Given the description of an element on the screen output the (x, y) to click on. 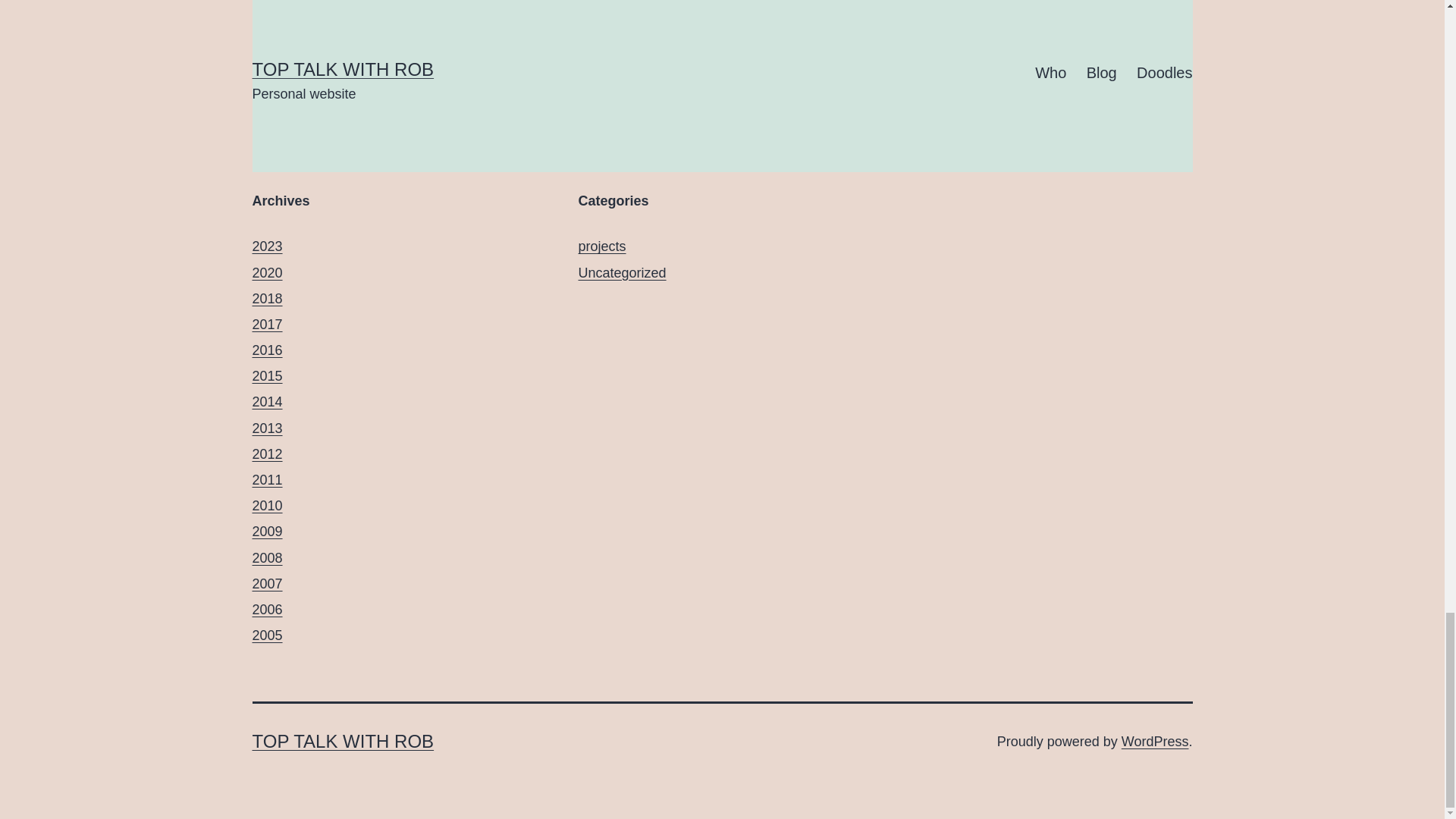
2009 (266, 531)
2006 (266, 609)
2016 (266, 350)
2011 (266, 479)
2008 (266, 557)
2005 (266, 635)
2017 (266, 324)
2015 (266, 376)
2020 (266, 272)
2014 (266, 401)
2018 (266, 298)
2012 (266, 453)
2013 (266, 427)
2023 (266, 246)
2010 (266, 505)
